Given the description of an element on the screen output the (x, y) to click on. 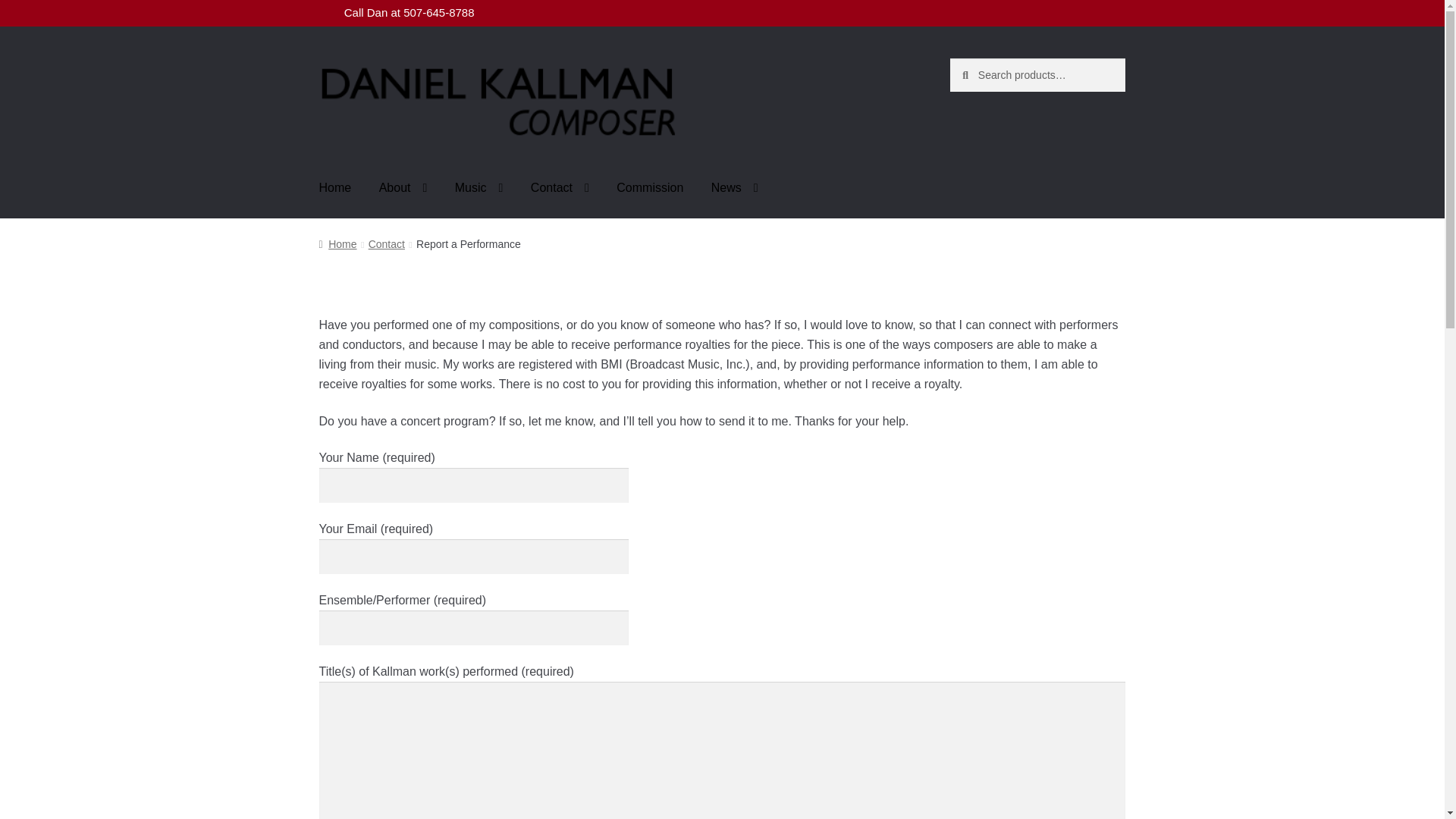
Home (335, 188)
About (402, 188)
Commission (649, 188)
Contact (559, 188)
News (734, 188)
Music (478, 188)
